Given the description of an element on the screen output the (x, y) to click on. 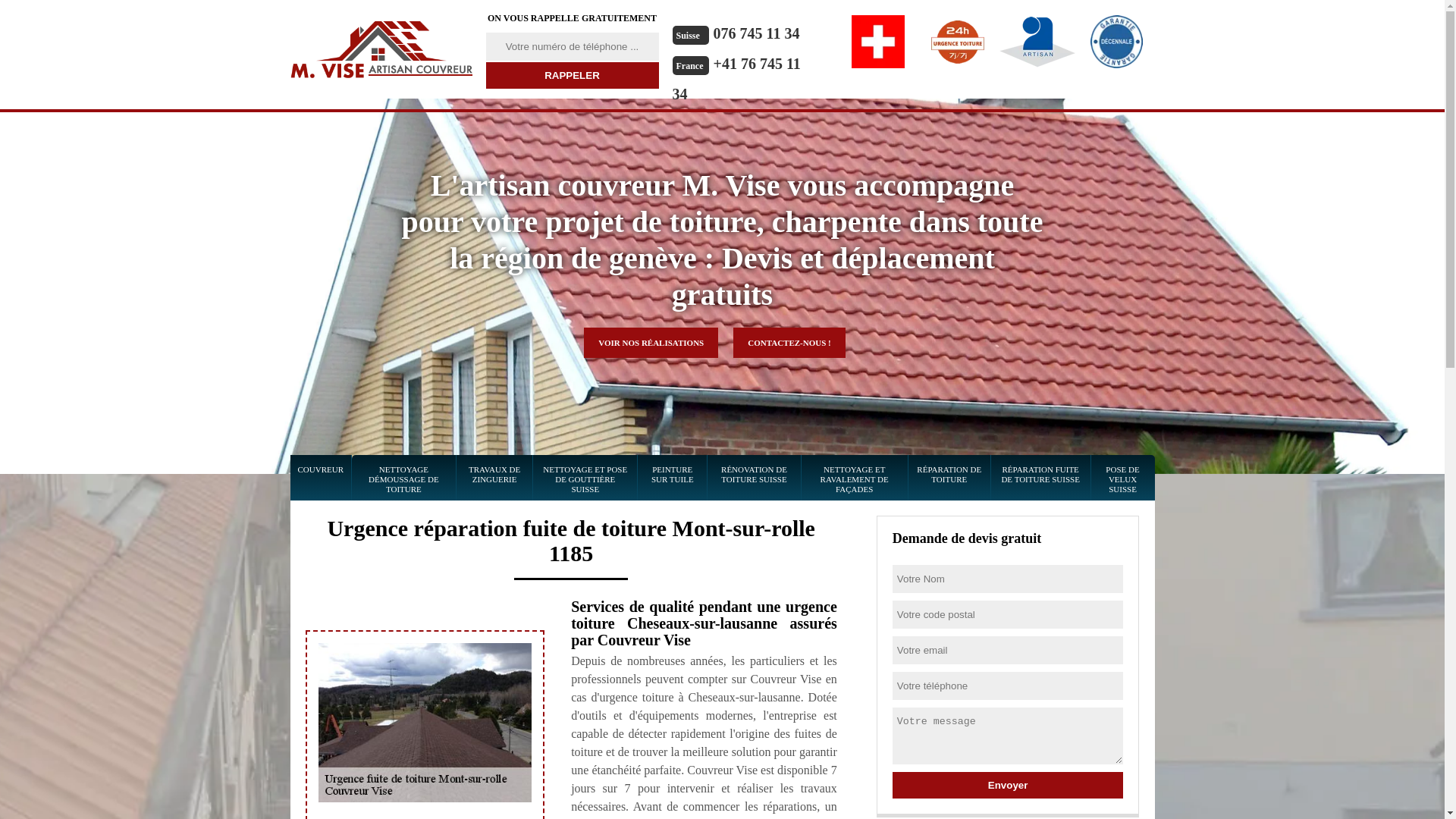
PEINTURE SUR TUILE Element type: text (671, 479)
076 745 11 34 Element type: text (756, 33)
logo-couvreur-LE-couvreur-vise Element type: hover (381, 49)
TRAVAUX DE ZINGUERIE Element type: text (494, 479)
CONTACTEZ-NOUS ! Element type: text (789, 342)
COUVREUR Element type: text (321, 479)
POSE DE VELUX SUISSE Element type: text (1123, 479)
Envoyer Element type: text (1007, 784)
RAPPELER Element type: text (571, 75)
+41 76 745 11 34 Element type: text (735, 78)
